Given the description of an element on the screen output the (x, y) to click on. 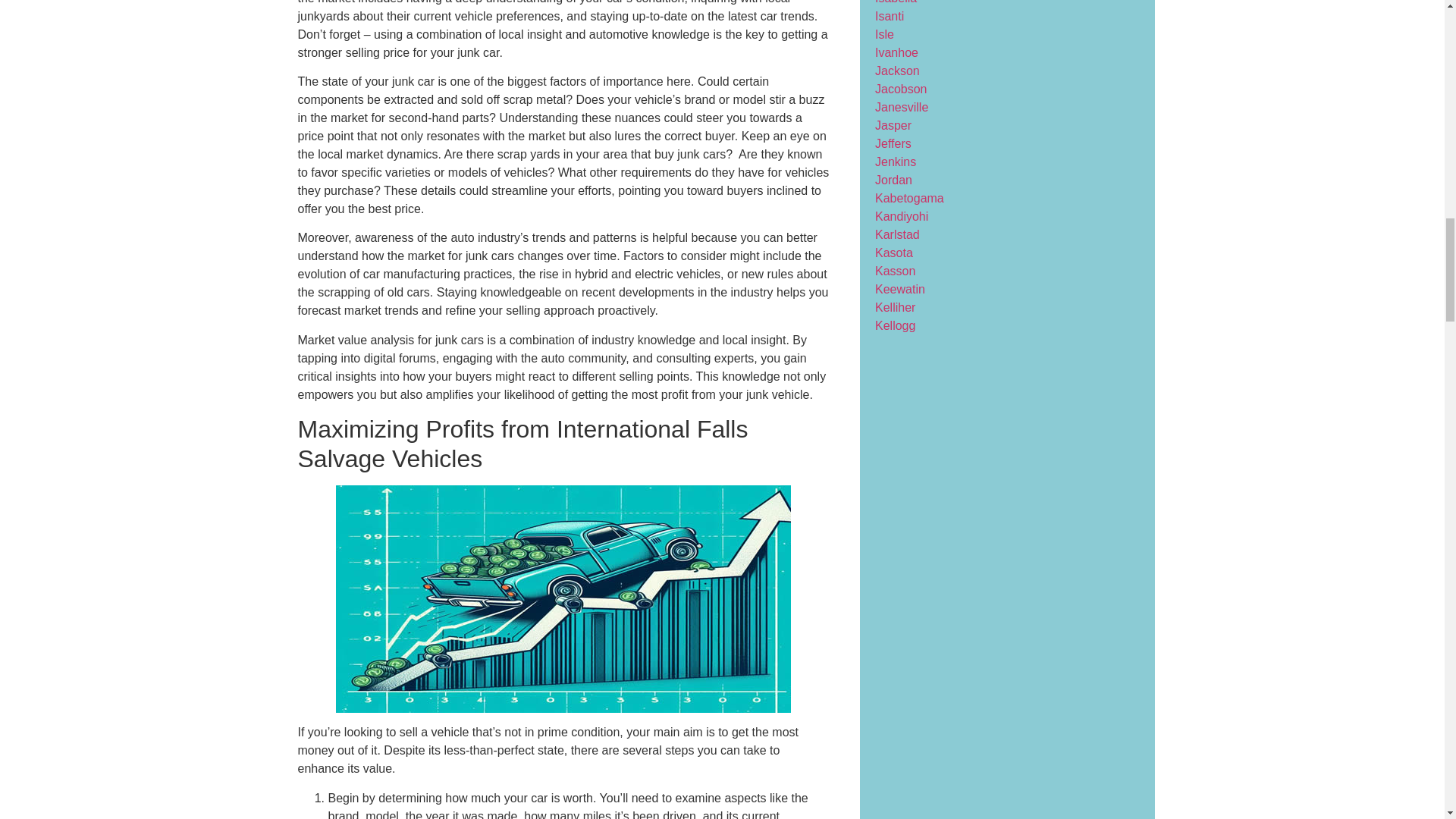
Jackson (897, 70)
Jordan (893, 179)
Ivanhoe (896, 51)
Jacobson (901, 88)
Janesville (901, 106)
Kandiyohi (901, 215)
Kelliher (895, 307)
Kellogg (895, 325)
Isabella (896, 2)
Keewatin (899, 288)
Isanti (889, 15)
Jasper (893, 124)
Kabetogama (909, 197)
Karlstad (897, 234)
Kasson (895, 270)
